Given the description of an element on the screen output the (x, y) to click on. 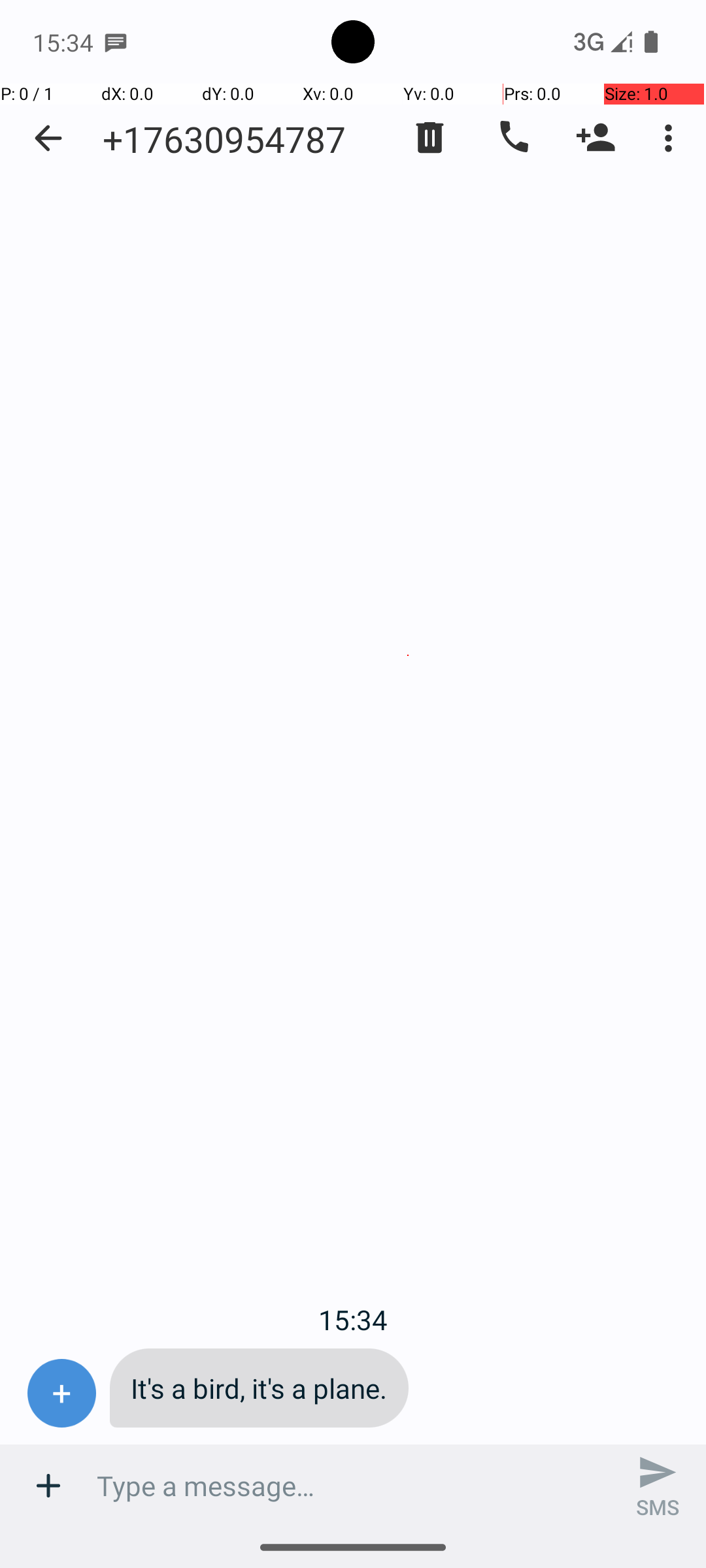
+17630954787 Element type: android.widget.TextView (223, 138)
It's a bird, it's a plane. Element type: android.widget.TextView (258, 1387)
